Given the description of an element on the screen output the (x, y) to click on. 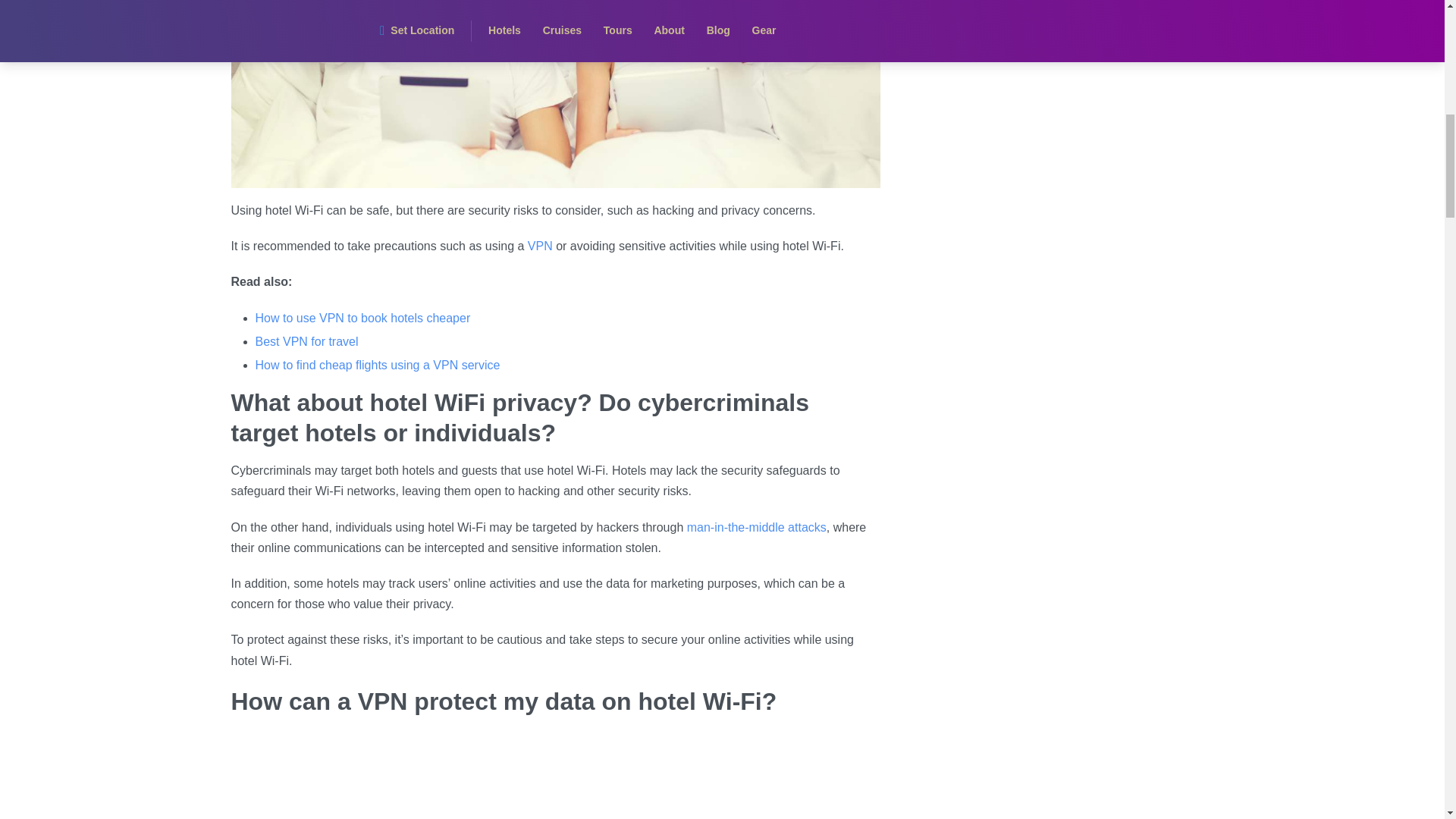
How to find cheap flights using a VPN service (376, 364)
VPN (540, 245)
How to use VPN to book hotels cheaper (362, 318)
Best VPN for travel (306, 341)
man-in-the-middle attacks (757, 526)
